Given the description of an element on the screen output the (x, y) to click on. 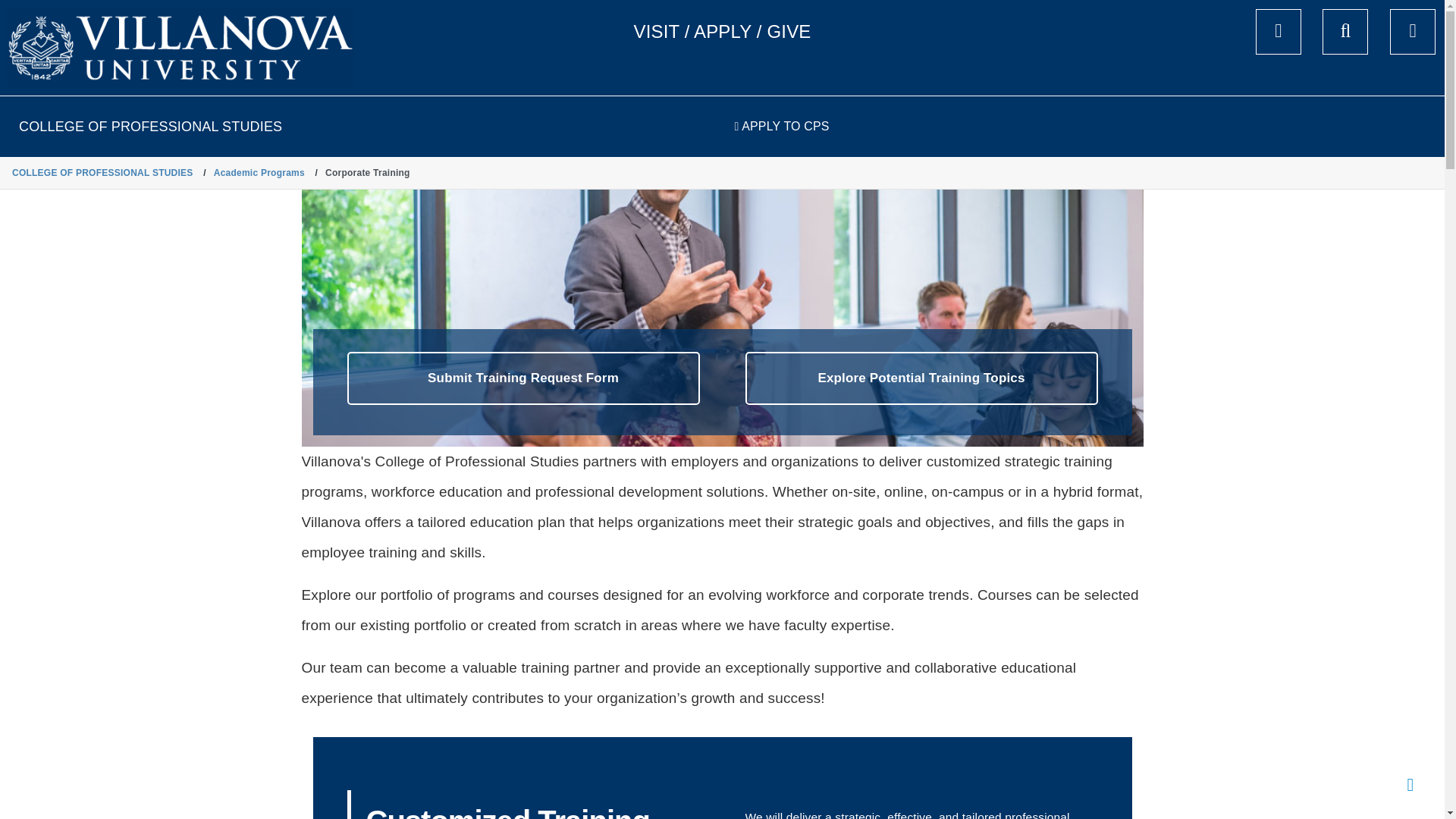
GIVE (788, 31)
VISIT (656, 31)
APPLY (722, 31)
